Given the description of an element on the screen output the (x, y) to click on. 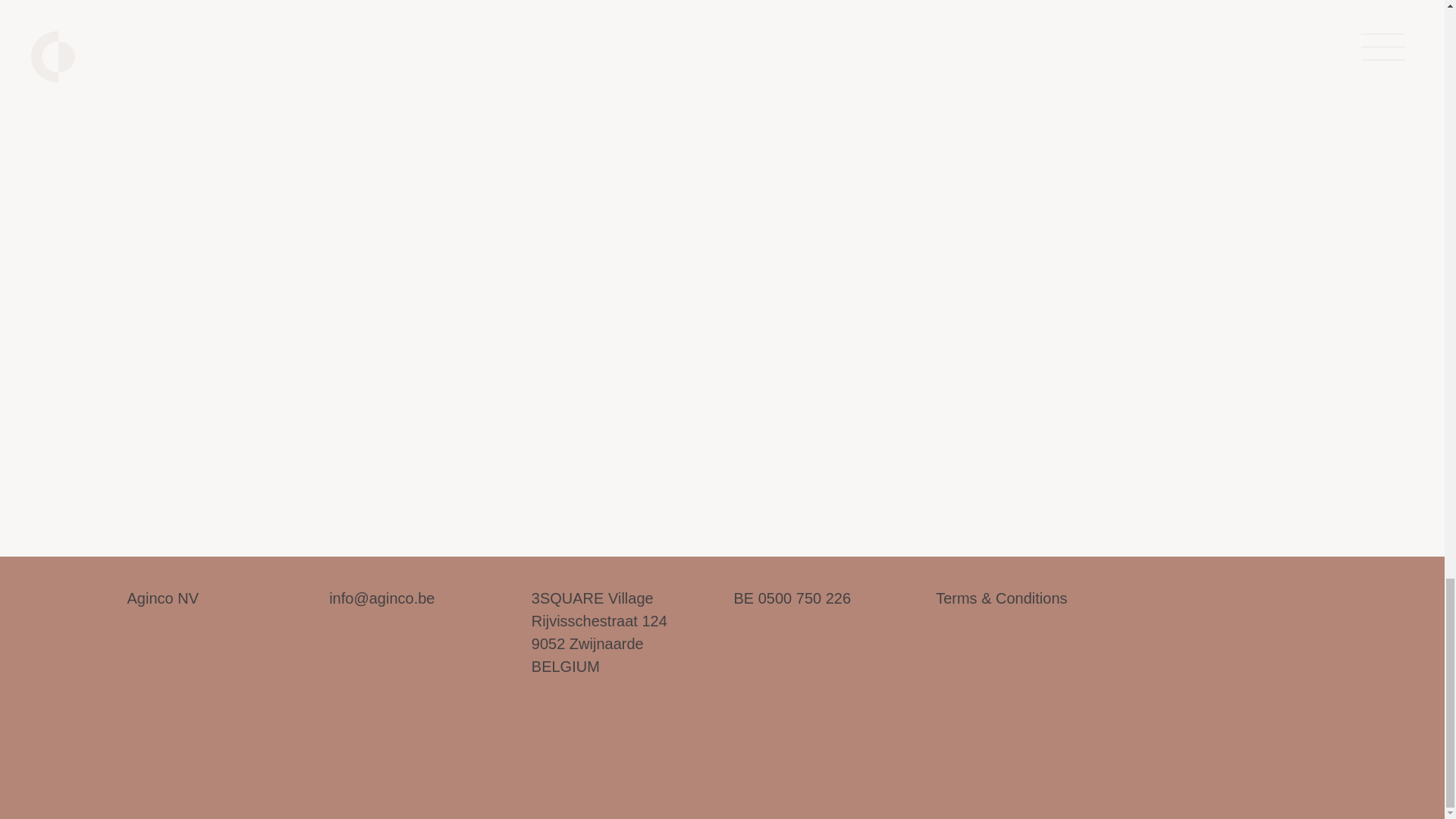
Submit (598, 631)
Aginco NV (1091, 393)
BE 0500 750 226 (163, 597)
